Given the description of an element on the screen output the (x, y) to click on. 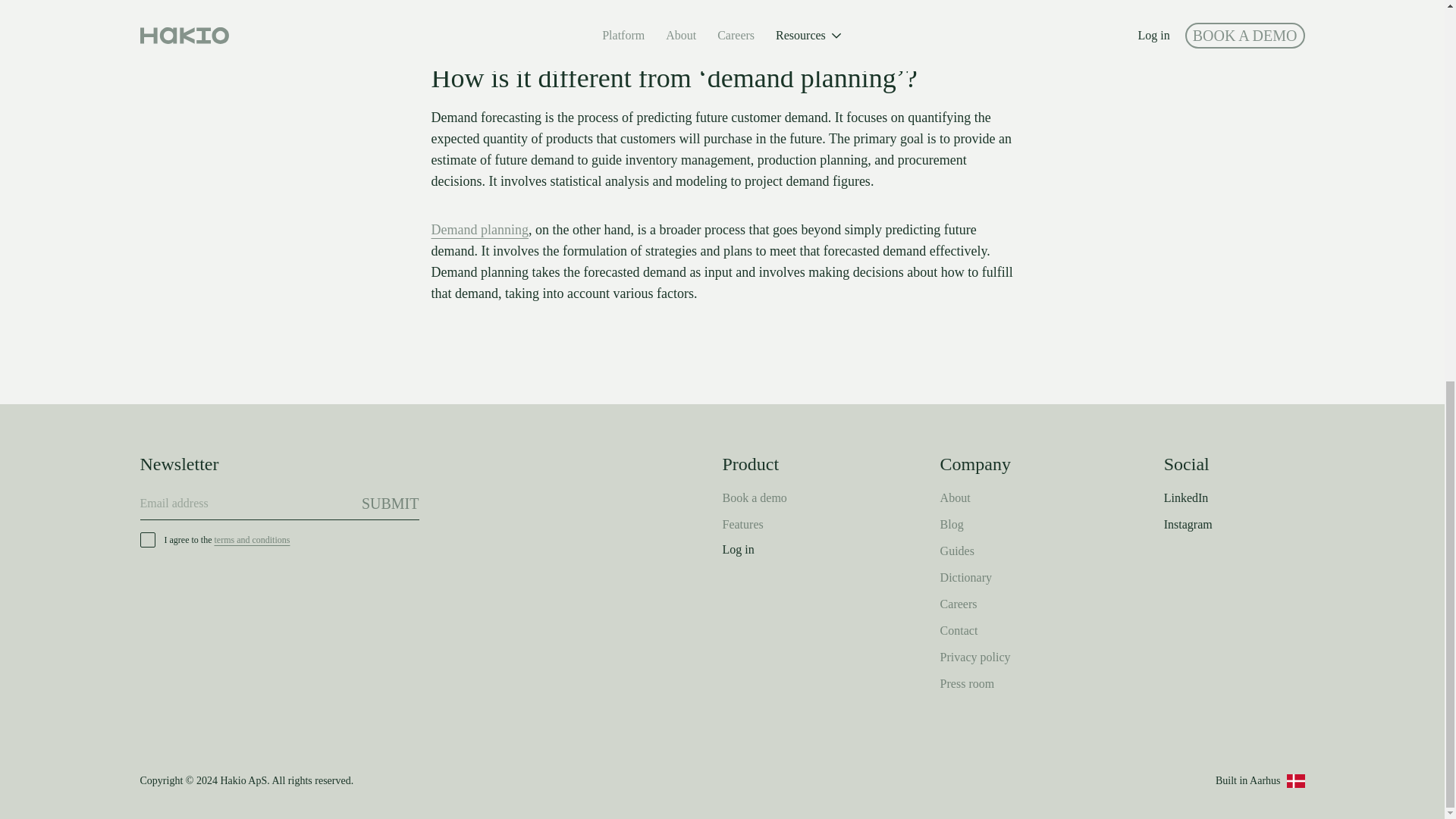
Book a demo (754, 497)
SUBMIT (390, 503)
Guides (957, 550)
Demand planning (478, 229)
About (955, 497)
Demand planning (478, 229)
Guides (957, 551)
Book a demo (754, 497)
Blog (951, 524)
Features (742, 524)
terms and conditions (251, 540)
About (955, 497)
Log in (738, 549)
Blog (951, 524)
Features (742, 524)
